Given the description of an element on the screen output the (x, y) to click on. 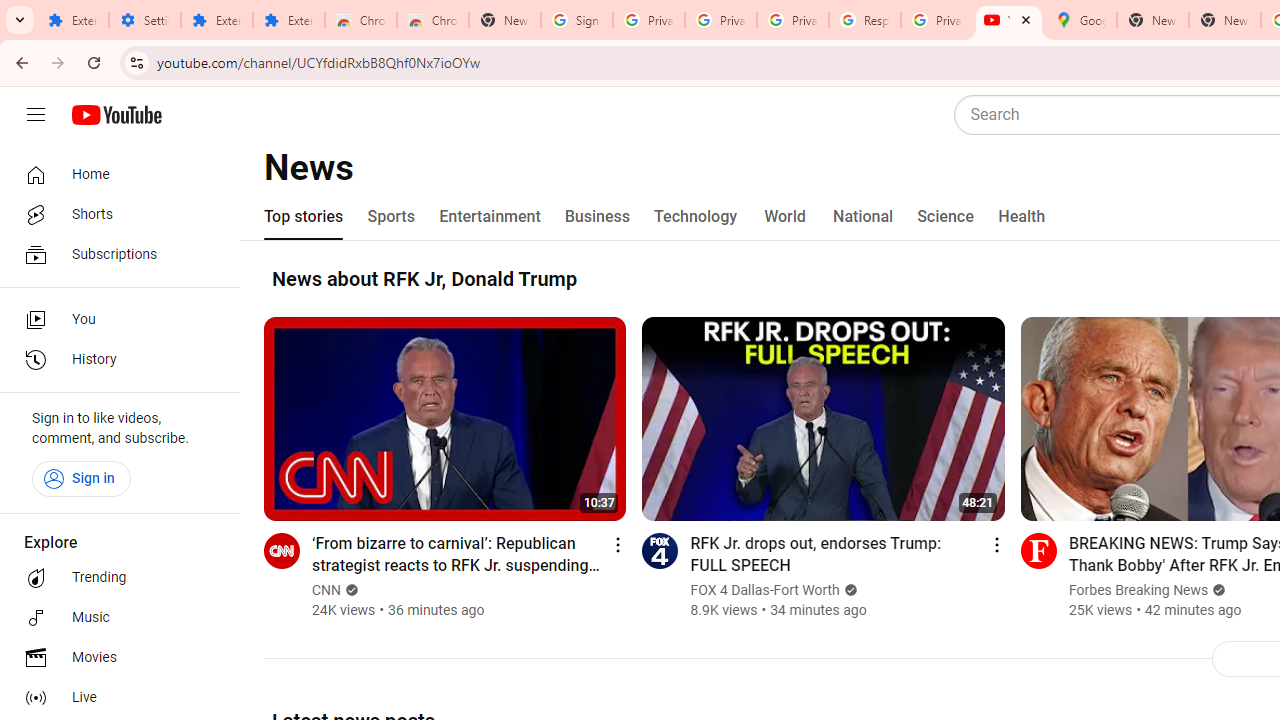
Science (945, 216)
Music (113, 617)
YouTube (1008, 20)
Top stories (303, 216)
Entertainment (490, 216)
Subscriptions (113, 254)
Business (597, 216)
World (785, 216)
